Given the description of an element on the screen output the (x, y) to click on. 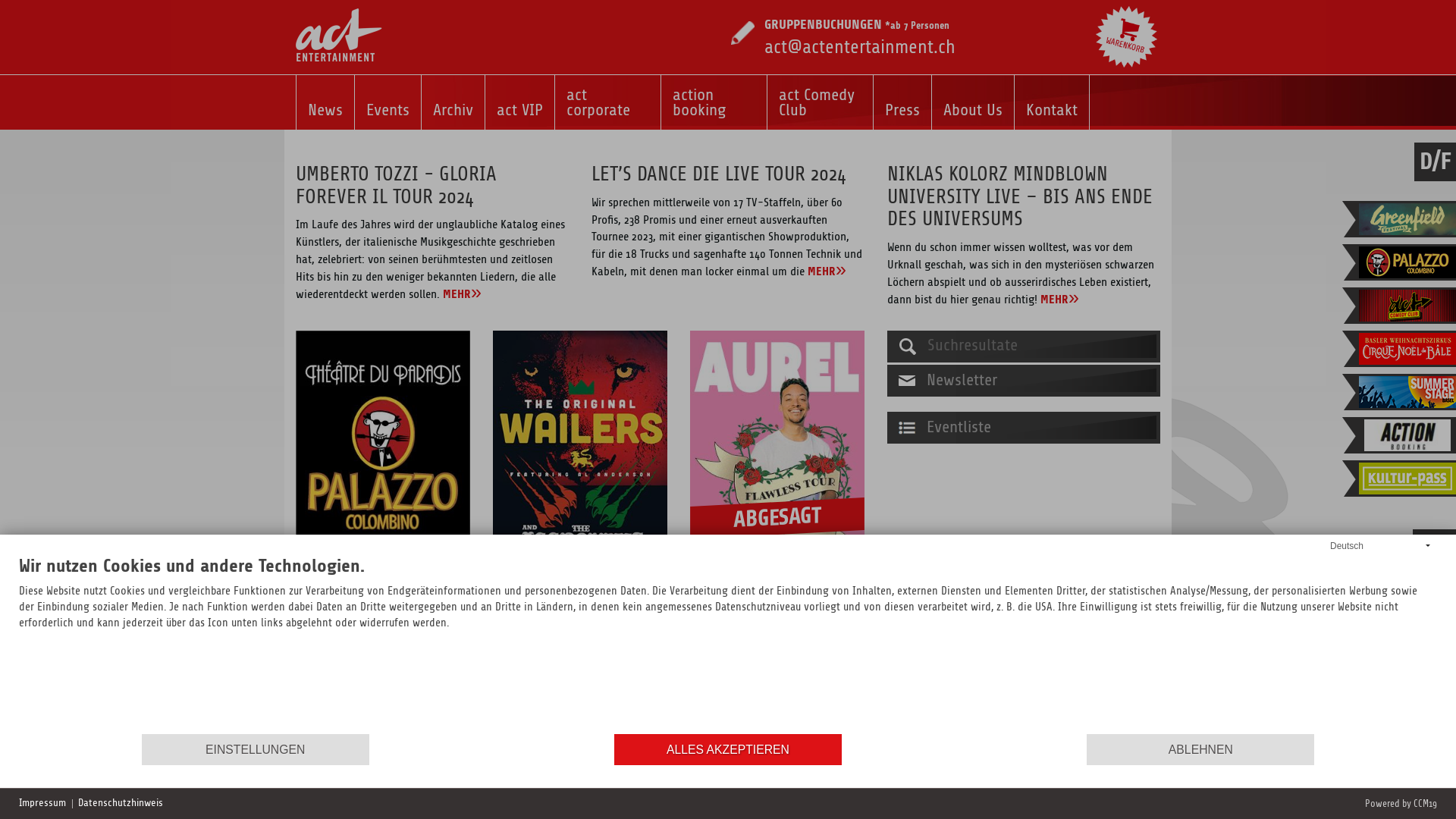
act VIP Element type: text (519, 102)
About Us Element type: text (972, 102)
Events Element type: text (387, 102)
ABLEHNEN Element type: text (1200, 749)
GRUPPENBUCHUNGEN
*ab 7 Personen
act@actentertainment.ch Element type: text (859, 36)
EINSTELLUNGEN Element type: text (255, 749)
action booking Element type: text (713, 102)
ABGESAGT Element type: text (776, 451)
Palazzo Colombino 2023 / 2024 Element type: hover (382, 451)
Aurel Mertz - Flawless Tour 2023 Element type: hover (777, 451)
Powered by CCM19 Element type: text (1401, 803)
Newsletter Element type: text (1023, 380)
News Element type: text (325, 102)
Archiv Element type: text (452, 102)
act corporate Element type: text (607, 102)
UMBERTO TOZZI - GLORIA FOREVER IL TOUR 2024 Element type: text (395, 185)
Press Element type: text (902, 102)
ALLES AKZEPTIEREN Element type: text (727, 749)
Datenschutzhinweis Element type: text (120, 803)
GRUPPENBUCHUNGEN
*ab 7 Personen
act@actentertainment.ch Element type: text (843, 26)
act Comedy Club Element type: text (819, 102)
Impressum Element type: text (41, 803)
action booking Element type: hover (1406, 435)
Eventliste Element type: text (1023, 427)
Kontakt Element type: text (1051, 102)
Warenkorb Element type: hover (1126, 36)
